Given the description of an element on the screen output the (x, y) to click on. 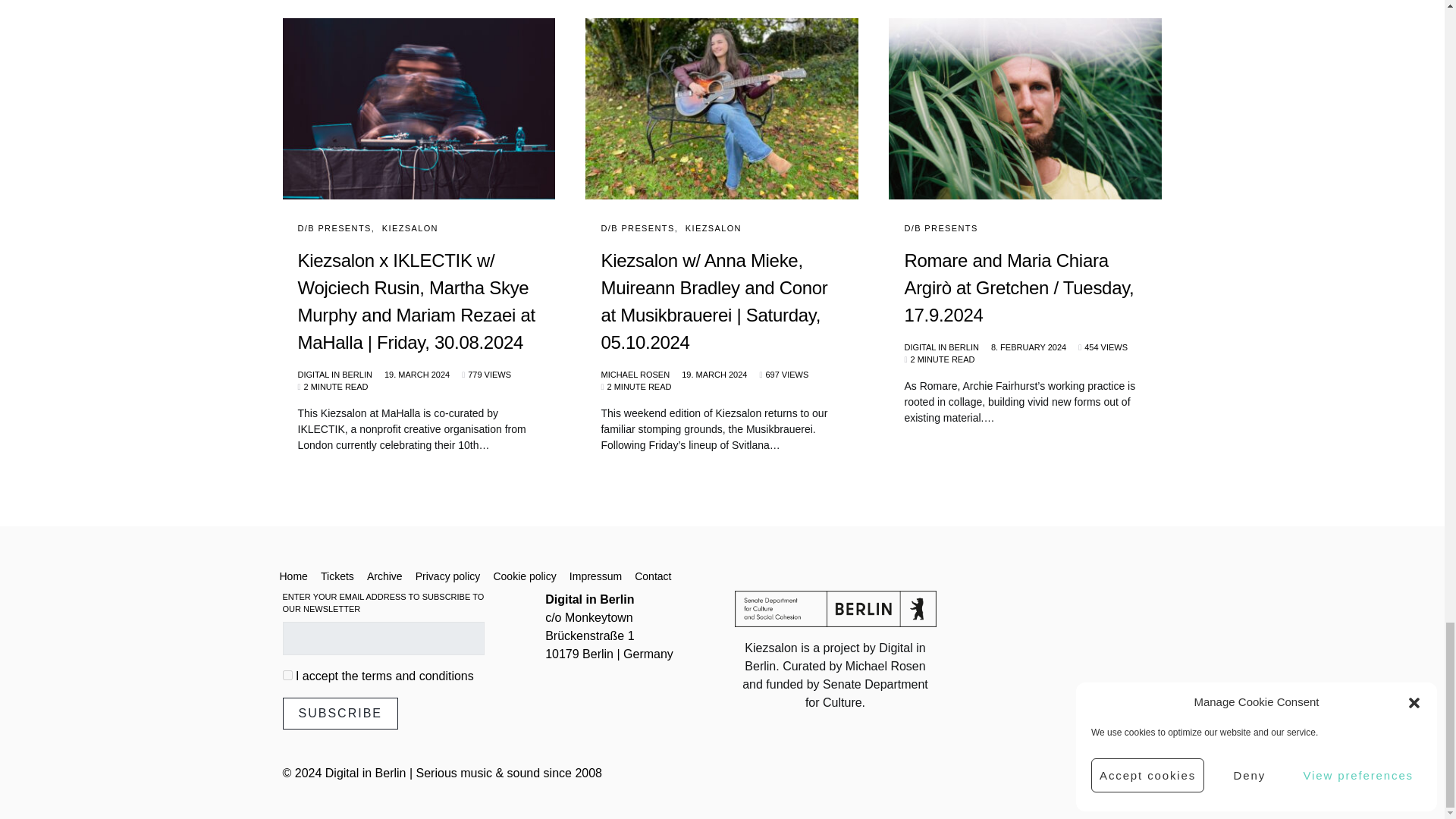
View all posts by Digital in Berlin (334, 374)
on (287, 675)
Subscribe (339, 713)
